Given the description of an element on the screen output the (x, y) to click on. 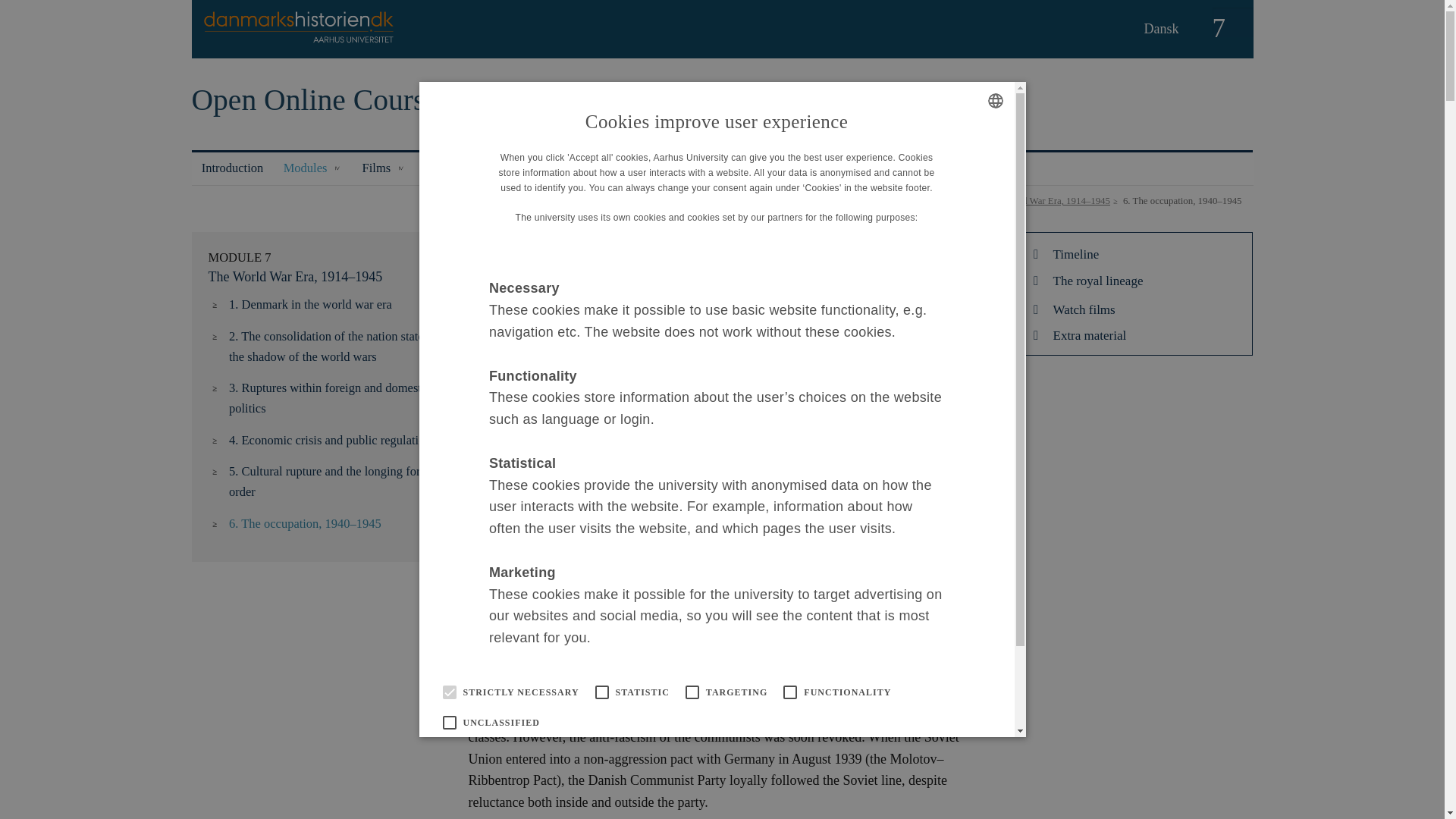
Introduction (231, 168)
Dansk (1167, 29)
Extra material (460, 168)
Modules (955, 200)
Type search criteria (1231, 21)
Films (383, 168)
OOC (915, 200)
3. Ruptures within foreign and domestic politics (334, 398)
1. Denmark in the world war era (334, 304)
Modules (312, 168)
Dansk (1167, 29)
Open Online Course in Danish History (424, 100)
About the course (558, 168)
danmarkshistorien.dk (850, 200)
